Given the description of an element on the screen output the (x, y) to click on. 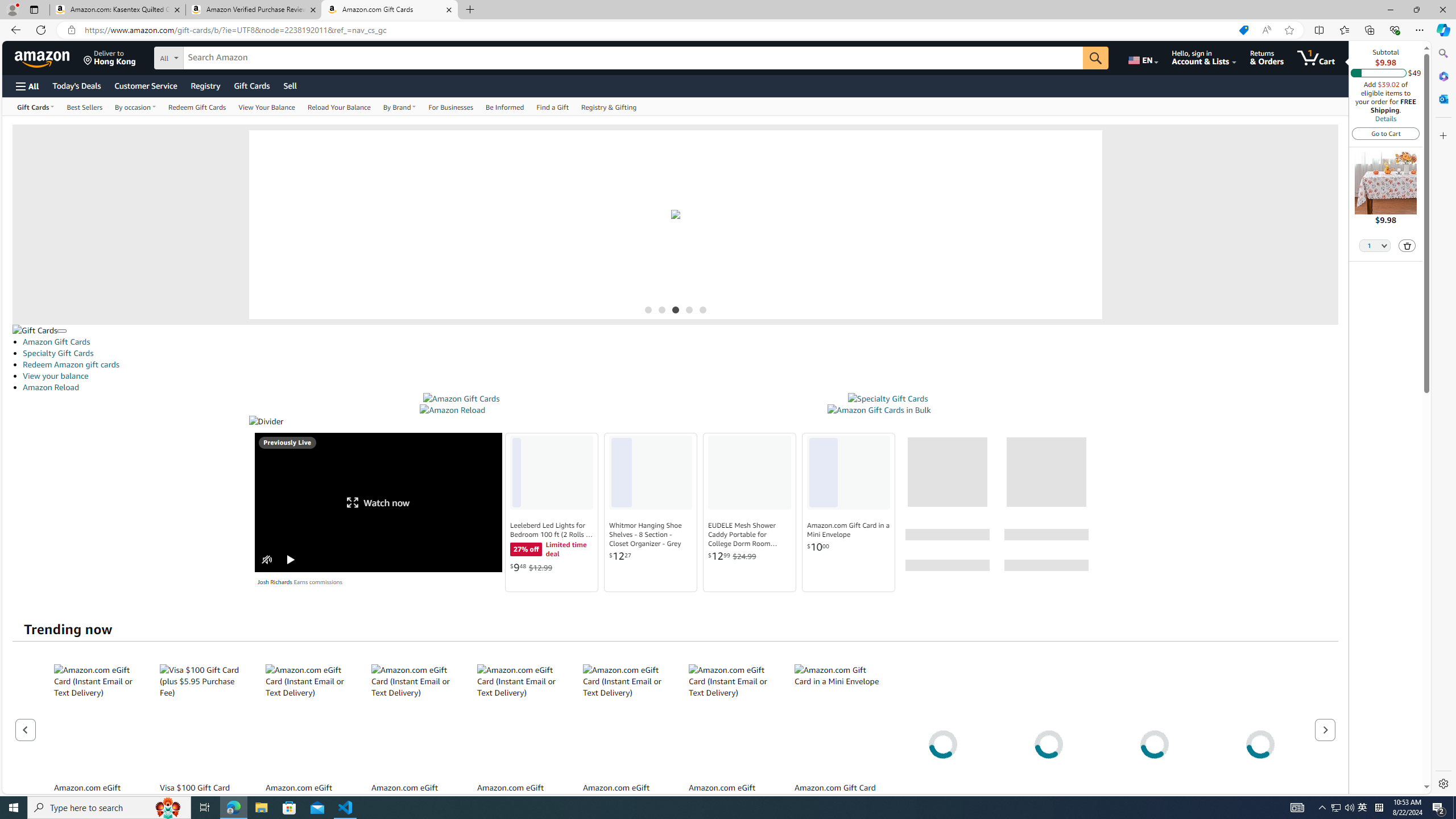
Previous page (26, 729)
Tap Watch now to see broadcast in immersive view (378, 502)
Visa $100 Gift Card (plus $5.95 Purchase Fee) (202, 720)
Amazon Gift Cards in Bulk (878, 410)
Redeem Amazon gift cards (71, 364)
Amazon Reload (452, 410)
Amazon.com Gift Card in a Mini Envelope (848, 529)
Go (1096, 57)
